Given the description of an element on the screen output the (x, y) to click on. 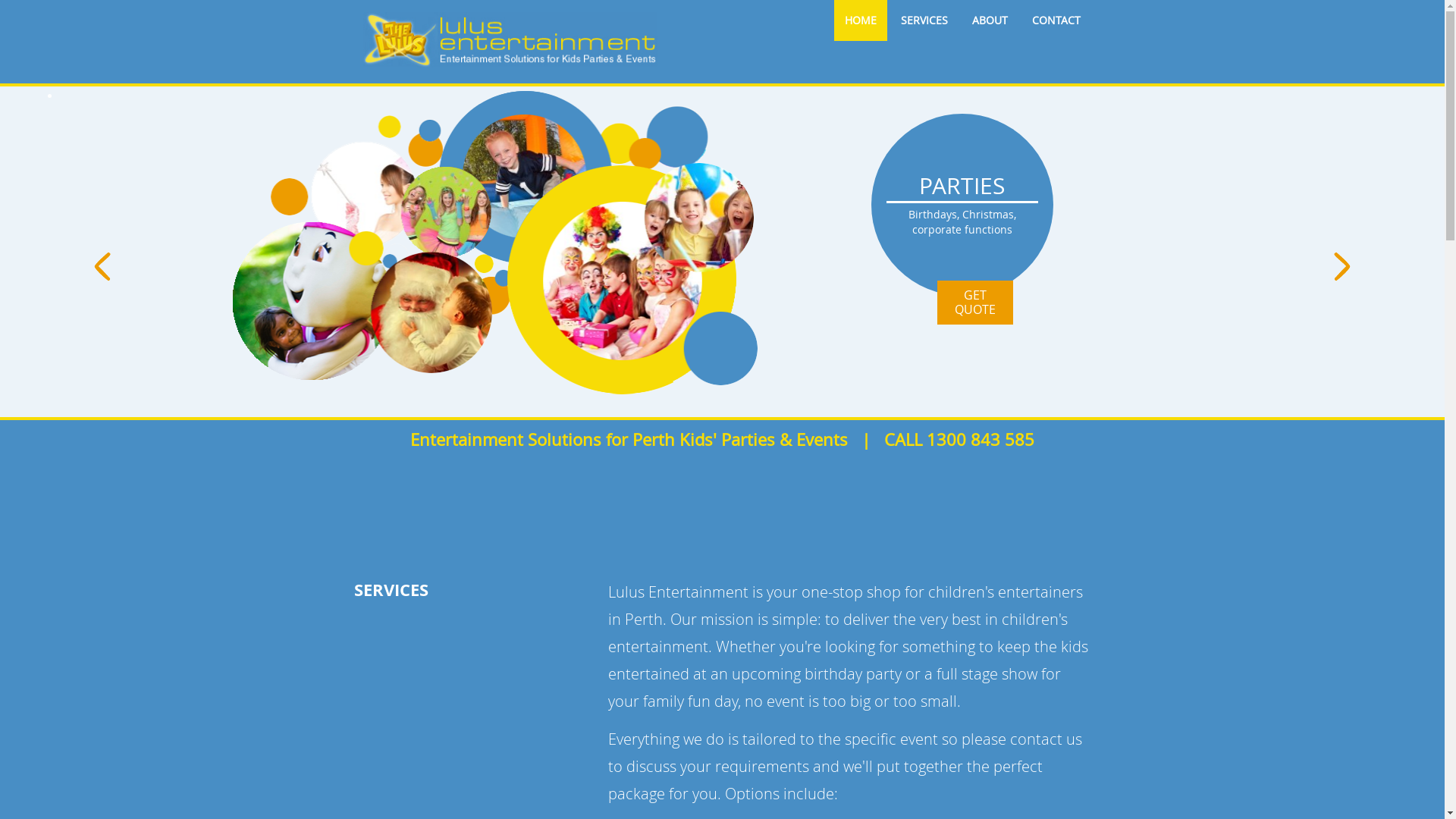
HOME Element type: text (860, 20)
CONTACT Element type: text (1055, 20)
SERVICES Element type: text (924, 20)
ABOUT Element type: text (989, 20)
GET QUOTE Element type: text (975, 302)
